Given the description of an element on the screen output the (x, y) to click on. 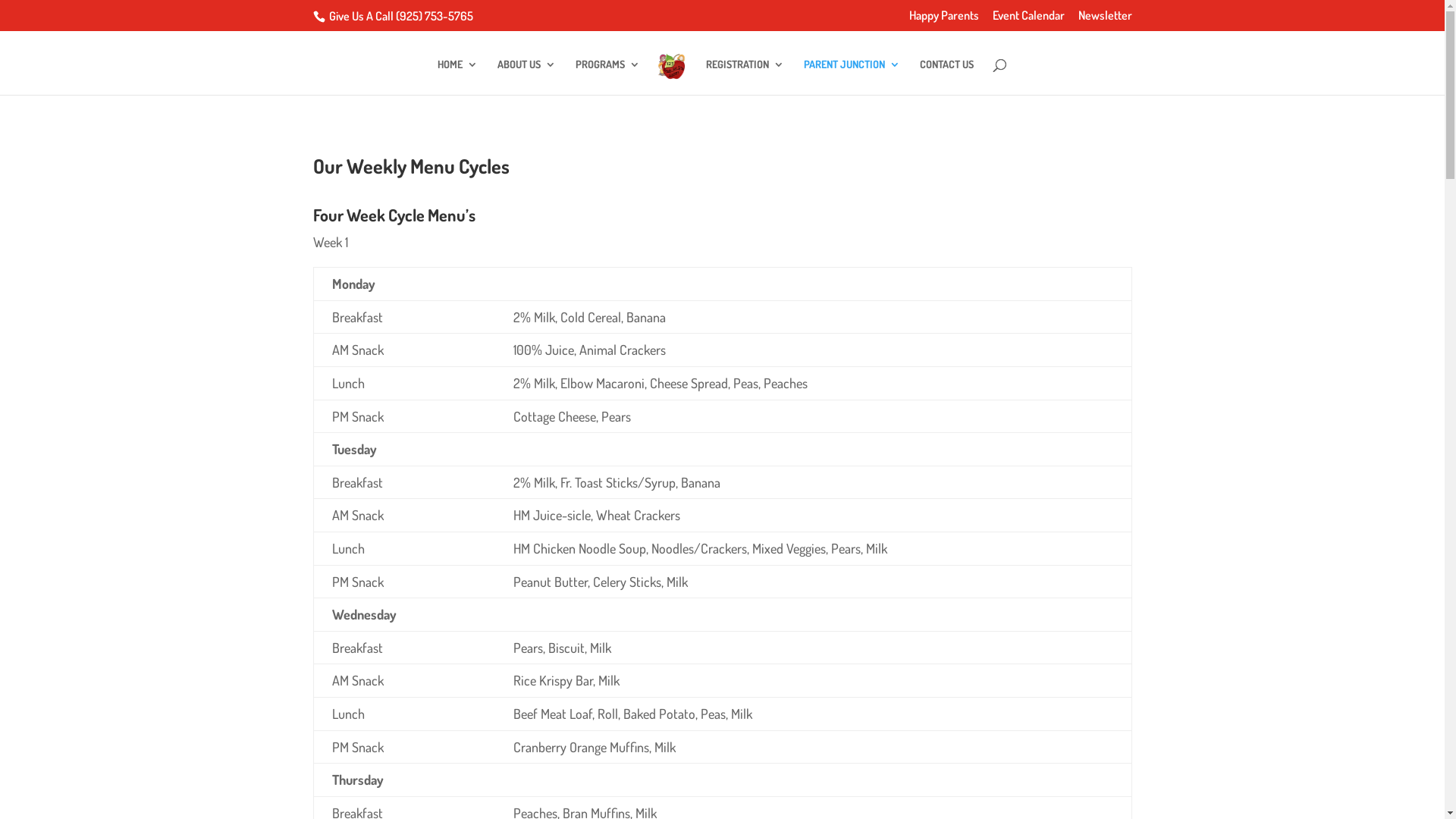
ABOUT US Element type: text (526, 76)
CONTACT US Element type: text (946, 76)
REGISTRATION Element type: text (745, 76)
Happy Parents Element type: text (943, 19)
PARENT JUNCTION Element type: text (851, 76)
HOME Element type: text (457, 76)
Newsletter Element type: text (1105, 19)
Event Calendar Element type: text (1027, 19)
PROGRAMS Element type: text (607, 76)
